Given the description of an element on the screen output the (x, y) to click on. 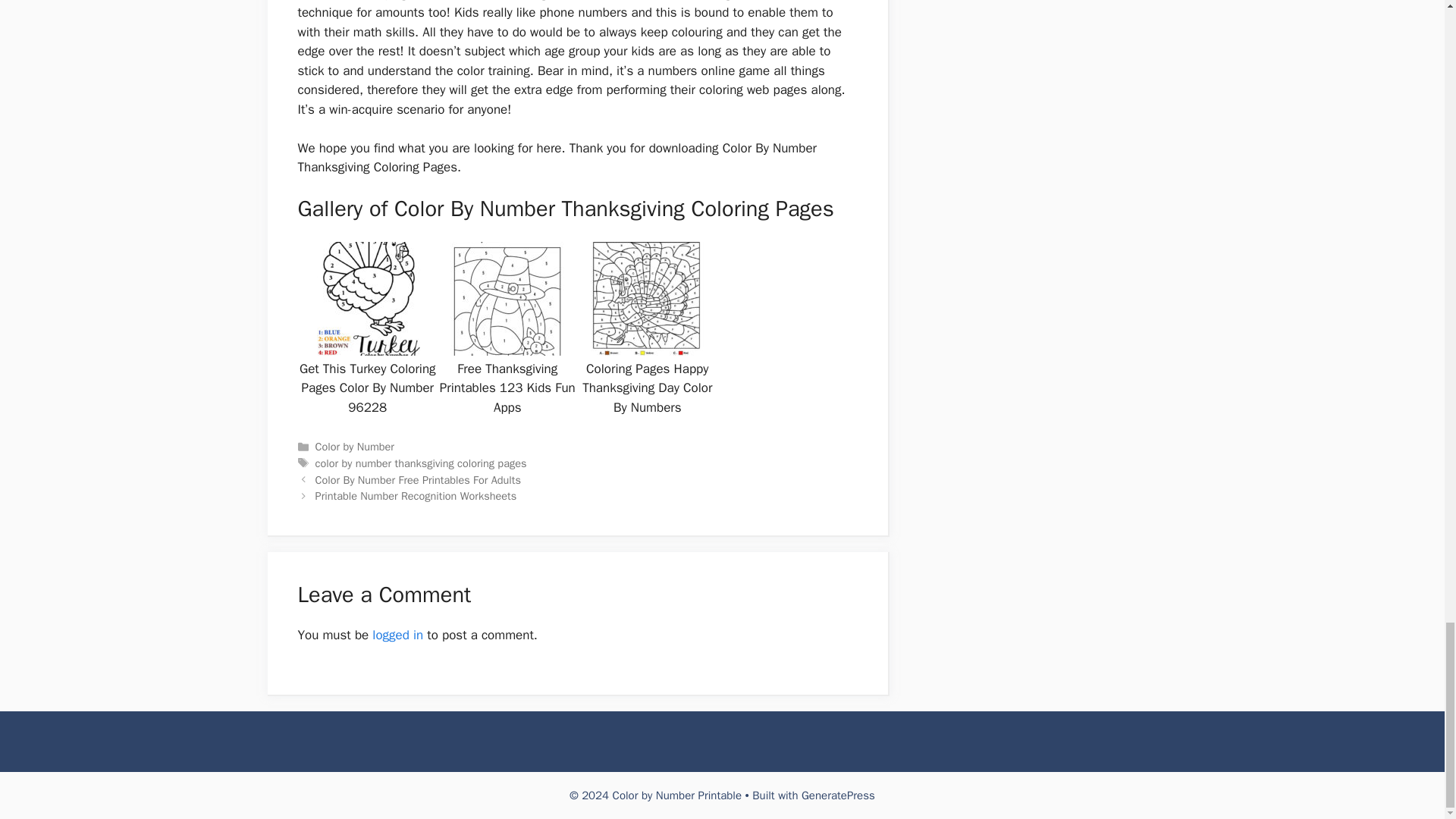
Next (415, 495)
Color By Number Free Printables For Adults (418, 479)
GeneratePress (838, 795)
Previous (418, 479)
color by number thanksgiving coloring pages (421, 463)
Color by Number (354, 446)
logged in (397, 634)
Printable Number Recognition Worksheets (415, 495)
